Given the description of an element on the screen output the (x, y) to click on. 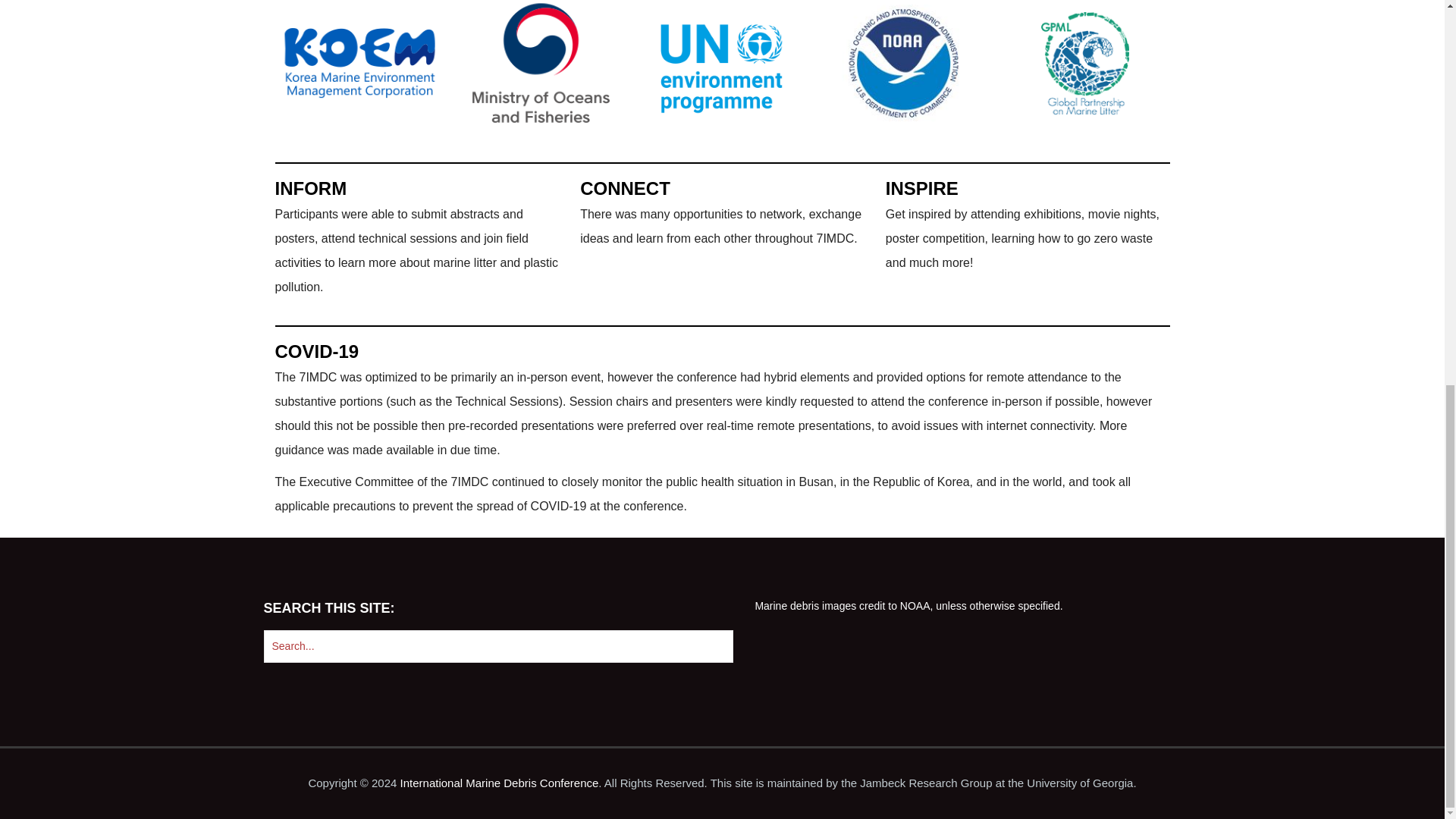
International Marine Debris Conference (499, 782)
Search for: (498, 645)
